Given the description of an element on the screen output the (x, y) to click on. 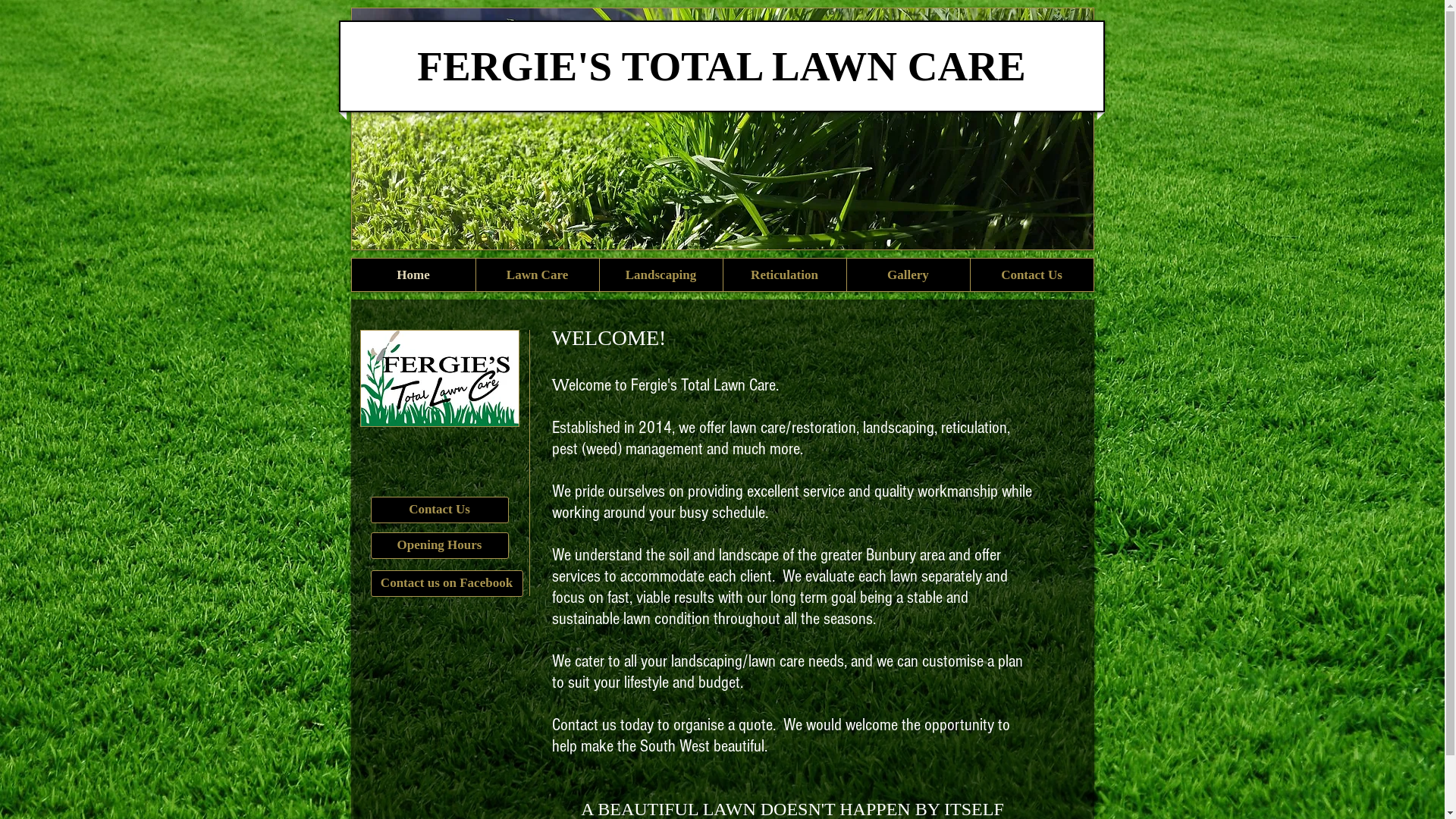
Landscaping Element type: text (660, 274)
Reticulation Element type: text (783, 274)
Contact Us Element type: text (1030, 274)
Opening Hours Element type: text (439, 545)
Gallery Element type: text (907, 274)
Home Element type: text (413, 274)
Contact us on Facebook Element type: text (446, 583)
Lawn Care Element type: text (536, 274)
Contact Us Element type: text (439, 509)
